Given the description of an element on the screen output the (x, y) to click on. 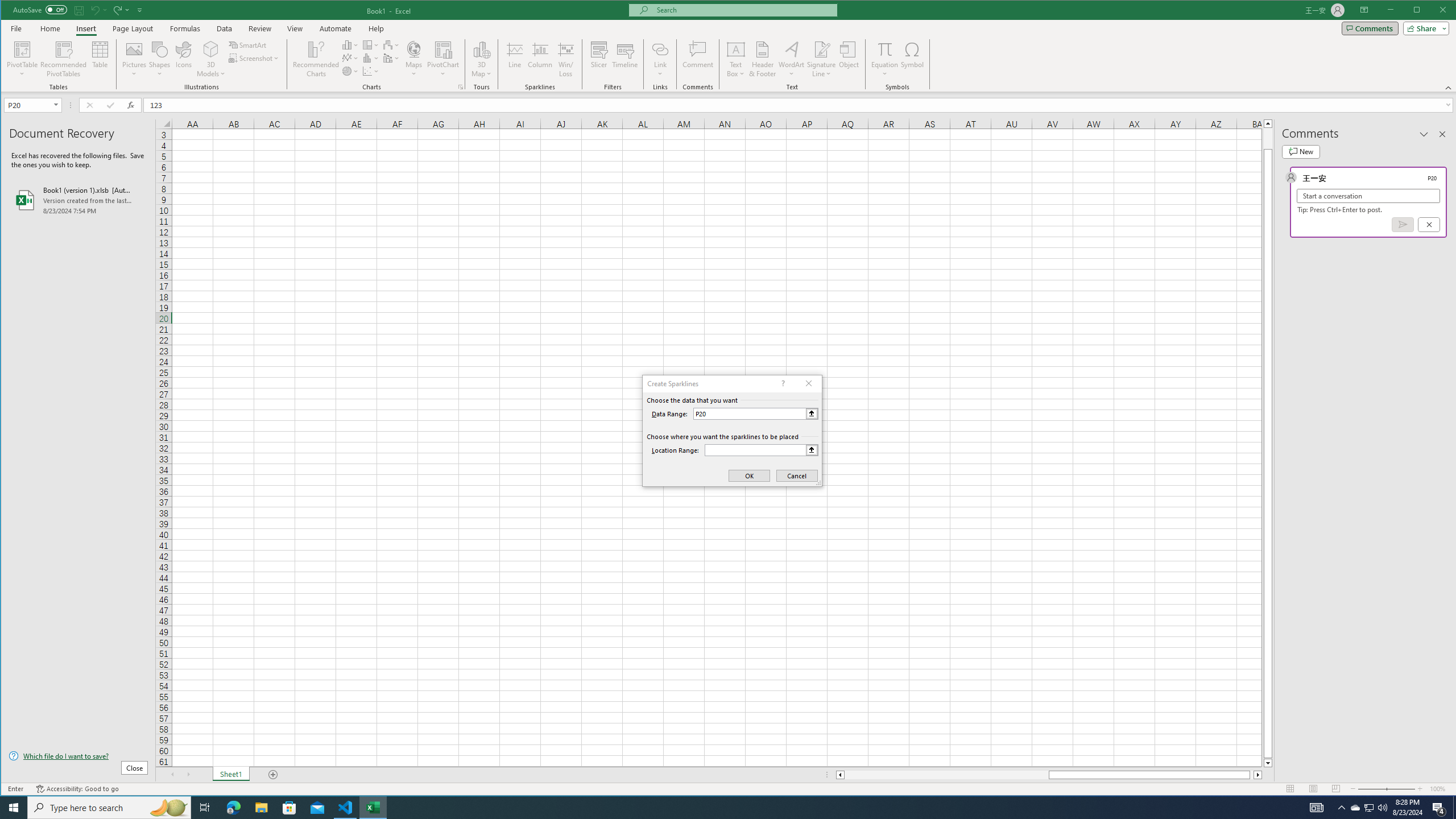
Link (659, 48)
Insert Hierarchy Chart (371, 44)
Column (540, 59)
Object... (848, 59)
PivotChart (443, 59)
PivotChart (443, 48)
